Given the description of an element on the screen output the (x, y) to click on. 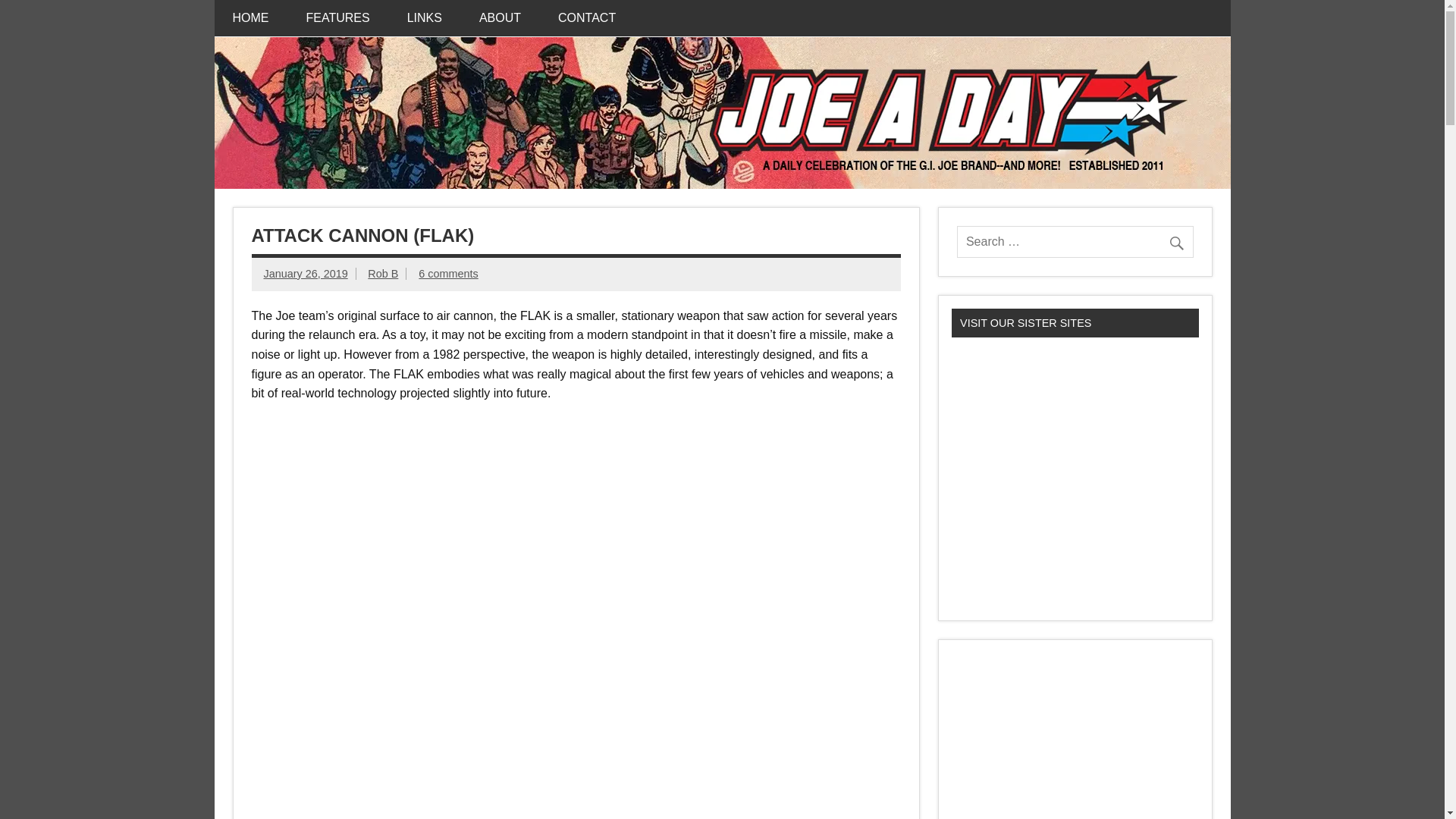
January 26, 2019 (305, 273)
6 comments (448, 273)
Rob B (382, 273)
CONTACT (586, 18)
View all posts by Rob B (382, 273)
7:42 pm (305, 273)
LINKS (424, 18)
FEATURES (338, 18)
ABOUT (499, 18)
HOME (250, 18)
